Given the description of an element on the screen output the (x, y) to click on. 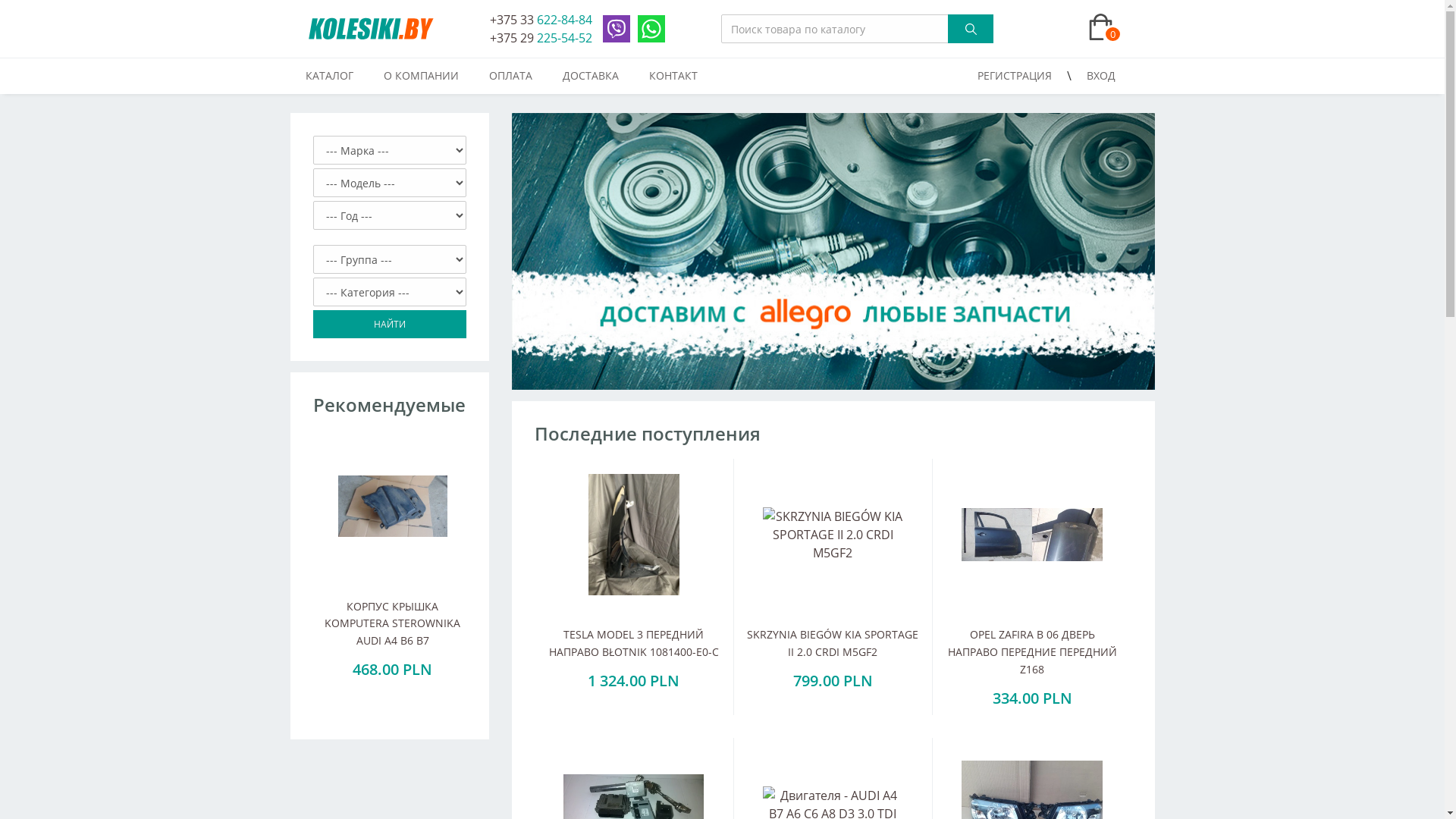
+375 29 225-54-52 Element type: text (540, 37)
0 Element type: text (1100, 29)
+375 33 622-84-84 Element type: text (540, 19)
